Given the description of an element on the screen output the (x, y) to click on. 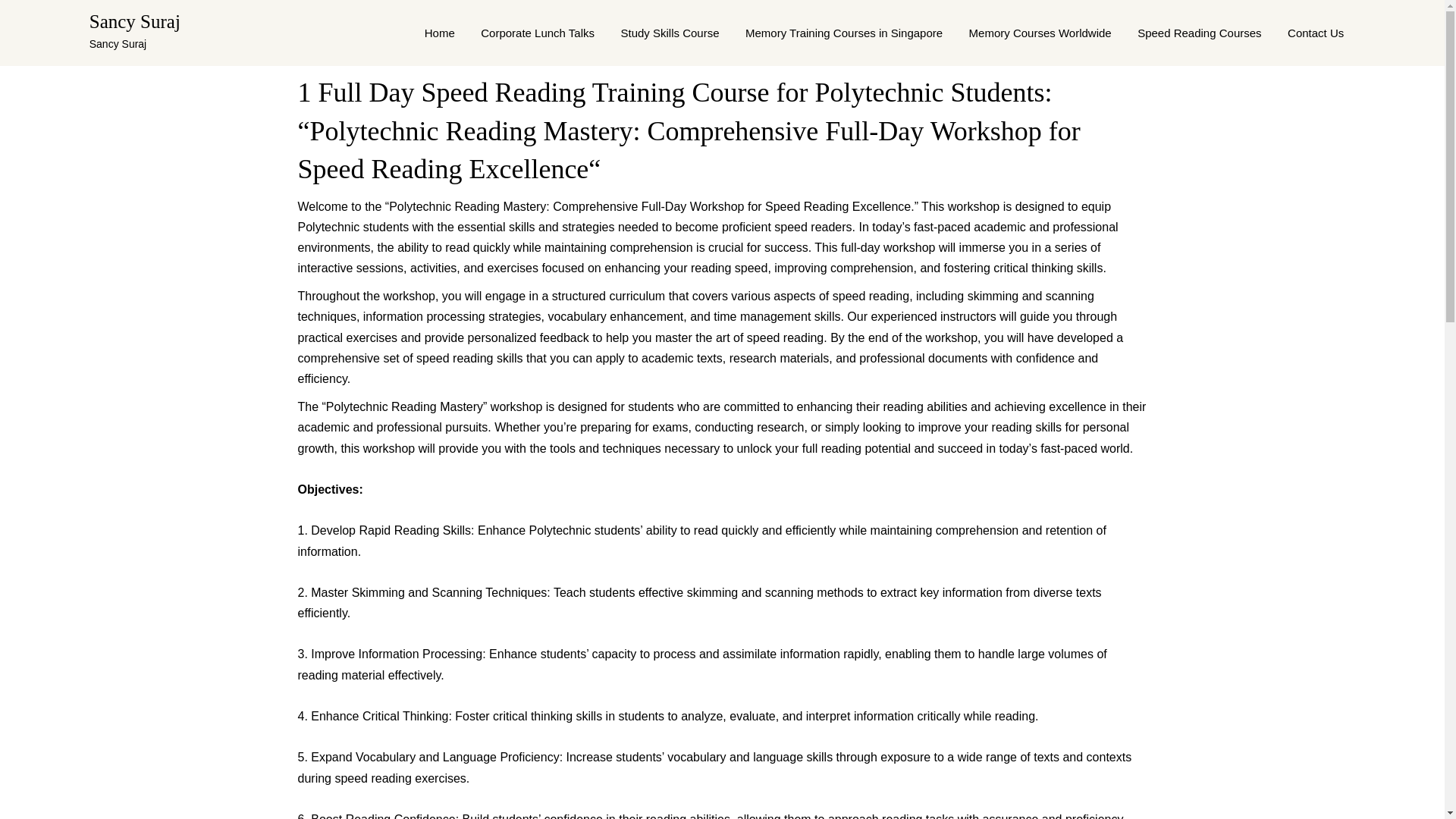
Contact Us (1315, 33)
Speed Reading Courses (1198, 33)
Sancy Suraj (134, 21)
Home (439, 33)
Study Skills Course (669, 33)
Corporate Lunch Talks (536, 33)
Memory Courses Worldwide (1040, 33)
Memory Training Courses in Singapore (843, 33)
